Given the description of an element on the screen output the (x, y) to click on. 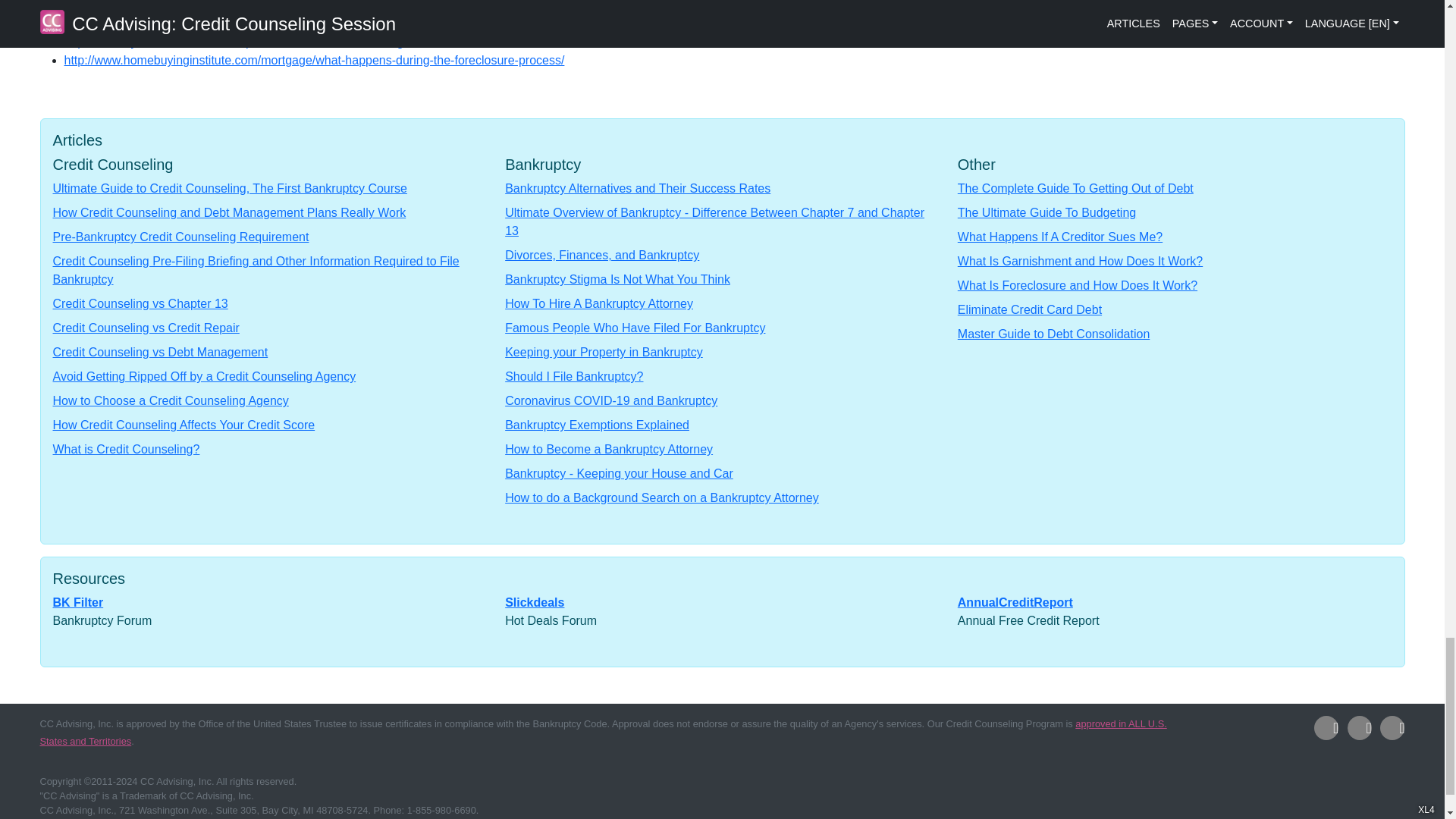
Credit Counseling vs Chapter 13 (140, 303)
Avoid Getting Ripped Off by a Credit Counseling Agency (204, 376)
Pre-Bankruptcy Credit Counseling Requirement (180, 236)
Credit Counseling vs Credit Repair (146, 327)
Credit Counseling vs Debt Management (159, 351)
How to Choose a Credit Counseling Agency (170, 400)
How Credit Counseling and Debt Management Plans Really Work (229, 212)
